Given the description of an element on the screen output the (x, y) to click on. 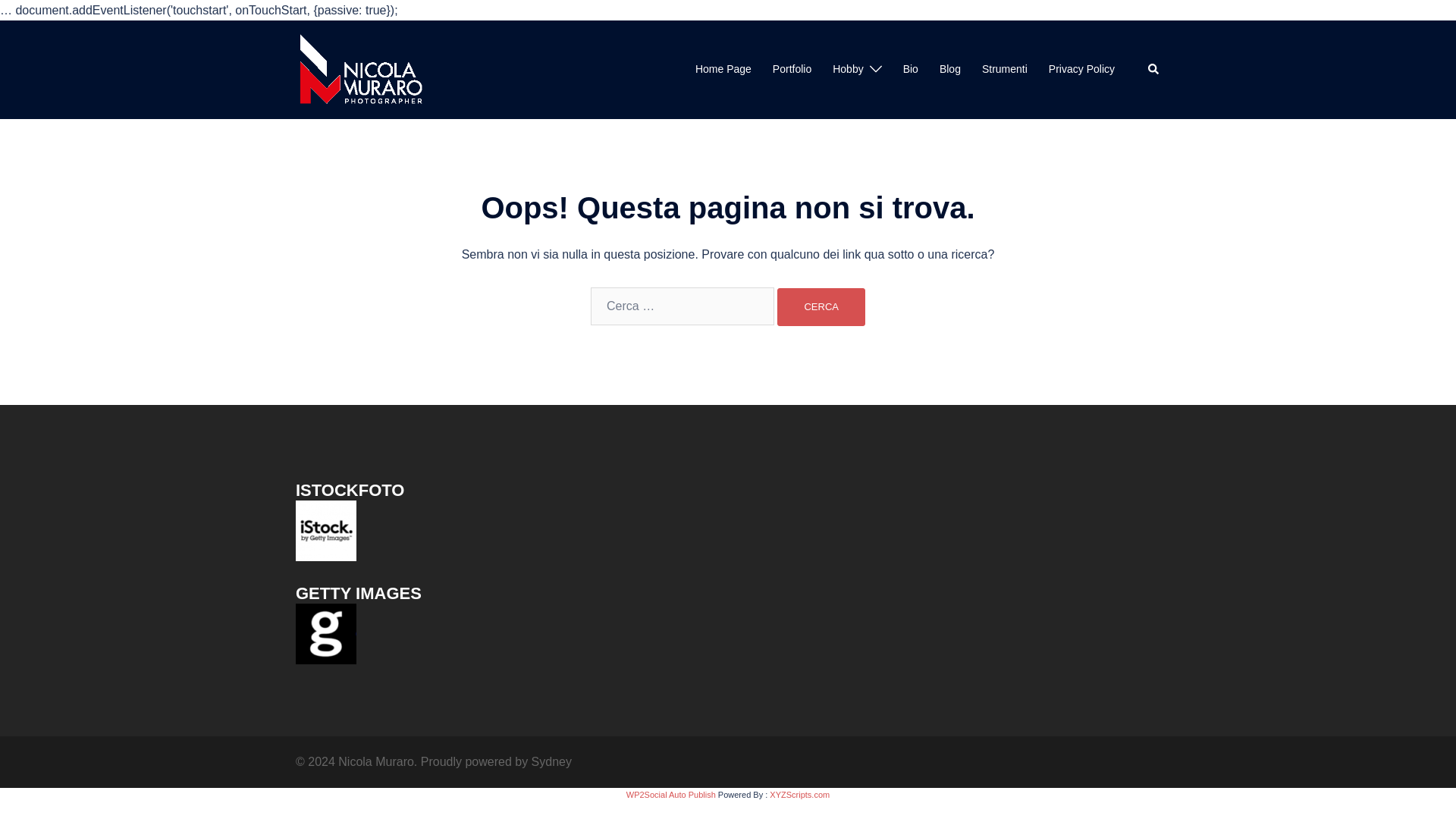
Nicola Muraro (360, 68)
Home Page (723, 69)
Getty Images (325, 633)
Cerca (820, 306)
Cerca (820, 306)
XYZScripts.com (799, 794)
WP2Social Auto Publish (671, 794)
Strumenti (1004, 69)
WP2Social Auto Publish (671, 794)
Hobby (847, 69)
iStockfoto (325, 530)
Cerca (820, 306)
Portfolio (791, 69)
Sydney (551, 761)
Privacy Policy (1081, 69)
